Given the description of an element on the screen output the (x, y) to click on. 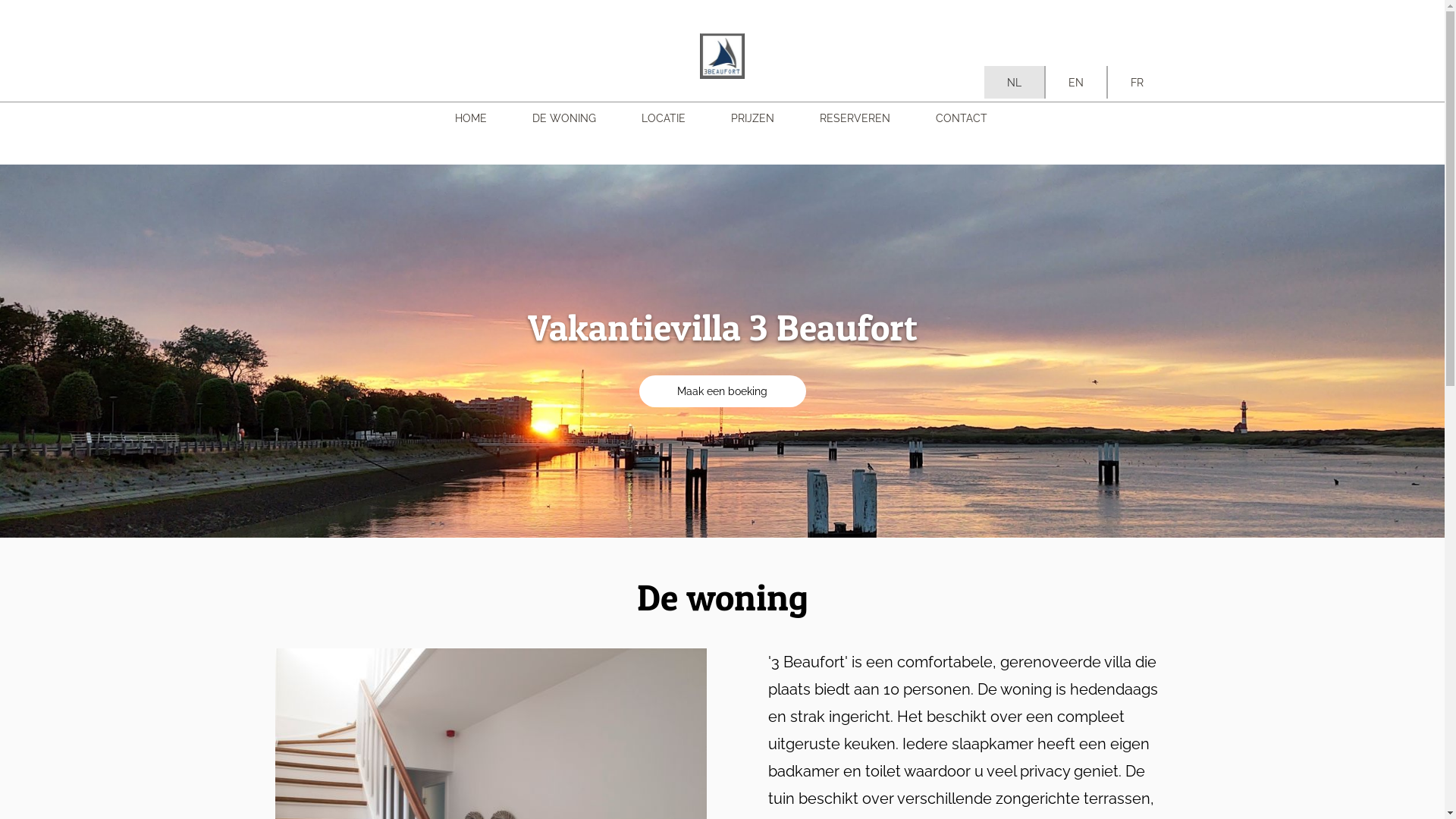
PRIJZEN Element type: text (752, 117)
HOME Element type: text (470, 117)
DE WONING Element type: text (563, 117)
NL Element type: text (1014, 81)
EN Element type: text (1074, 81)
RESERVEREN Element type: text (854, 117)
Maak een boeking Element type: text (721, 391)
LOCATIE Element type: text (663, 117)
CONTACT Element type: text (961, 117)
FR Element type: text (1136, 81)
